Given the description of an element on the screen output the (x, y) to click on. 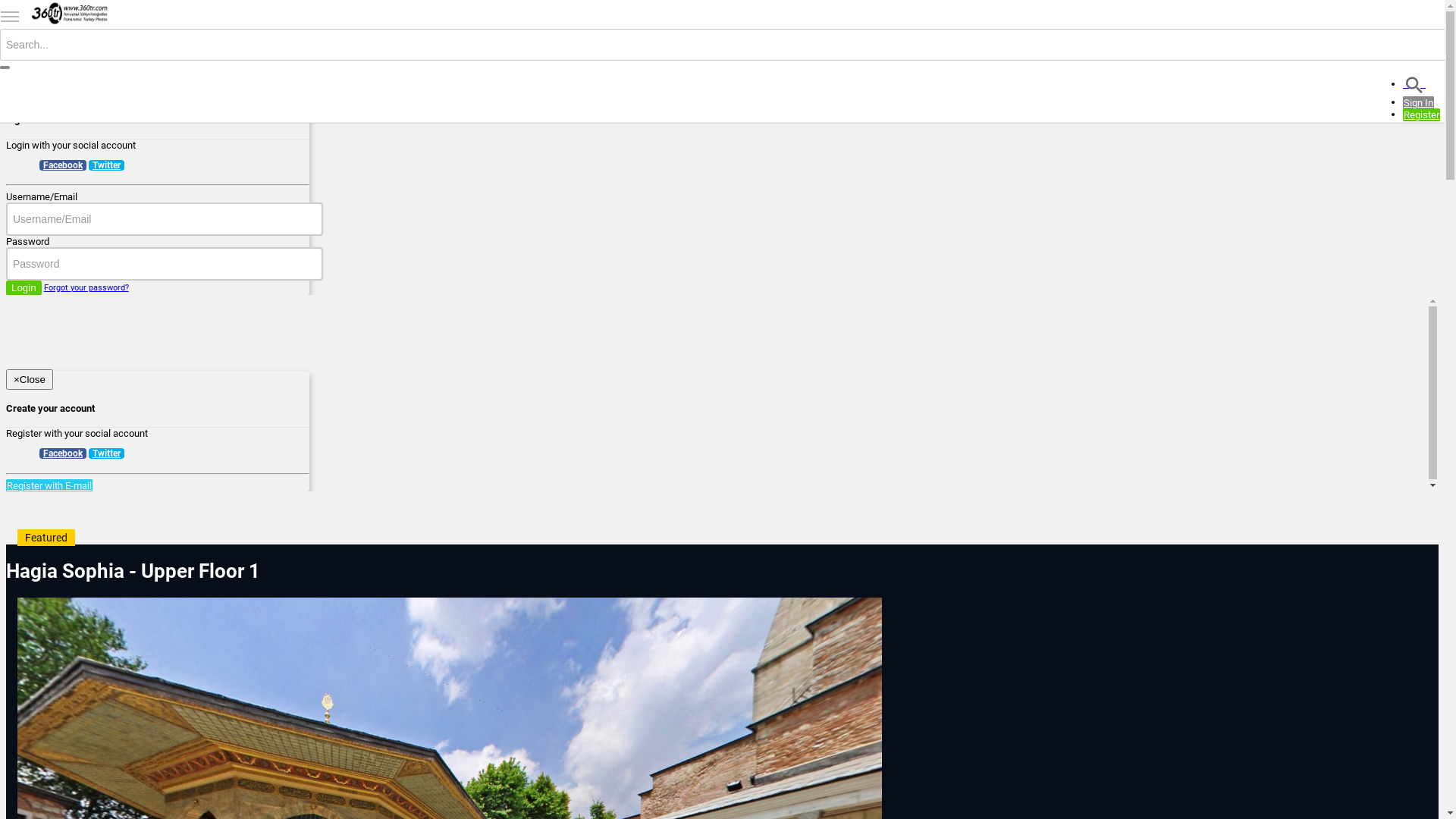
Login Element type: text (23, 287)
Facebook Element type: text (62, 165)
Twitter Element type: text (106, 453)
Show menu Element type: text (9, 16)
Sign In Element type: text (1418, 102)
Facebook Element type: text (62, 453)
360TR.COM Element type: hover (69, 13)
Forgot your password? Element type: text (85, 286)
Search Element type: hover (1413, 83)
Register with E-mail Element type: text (49, 485)
Twitter Element type: text (106, 165)
Register Element type: text (1421, 114)
